Given the description of an element on the screen output the (x, y) to click on. 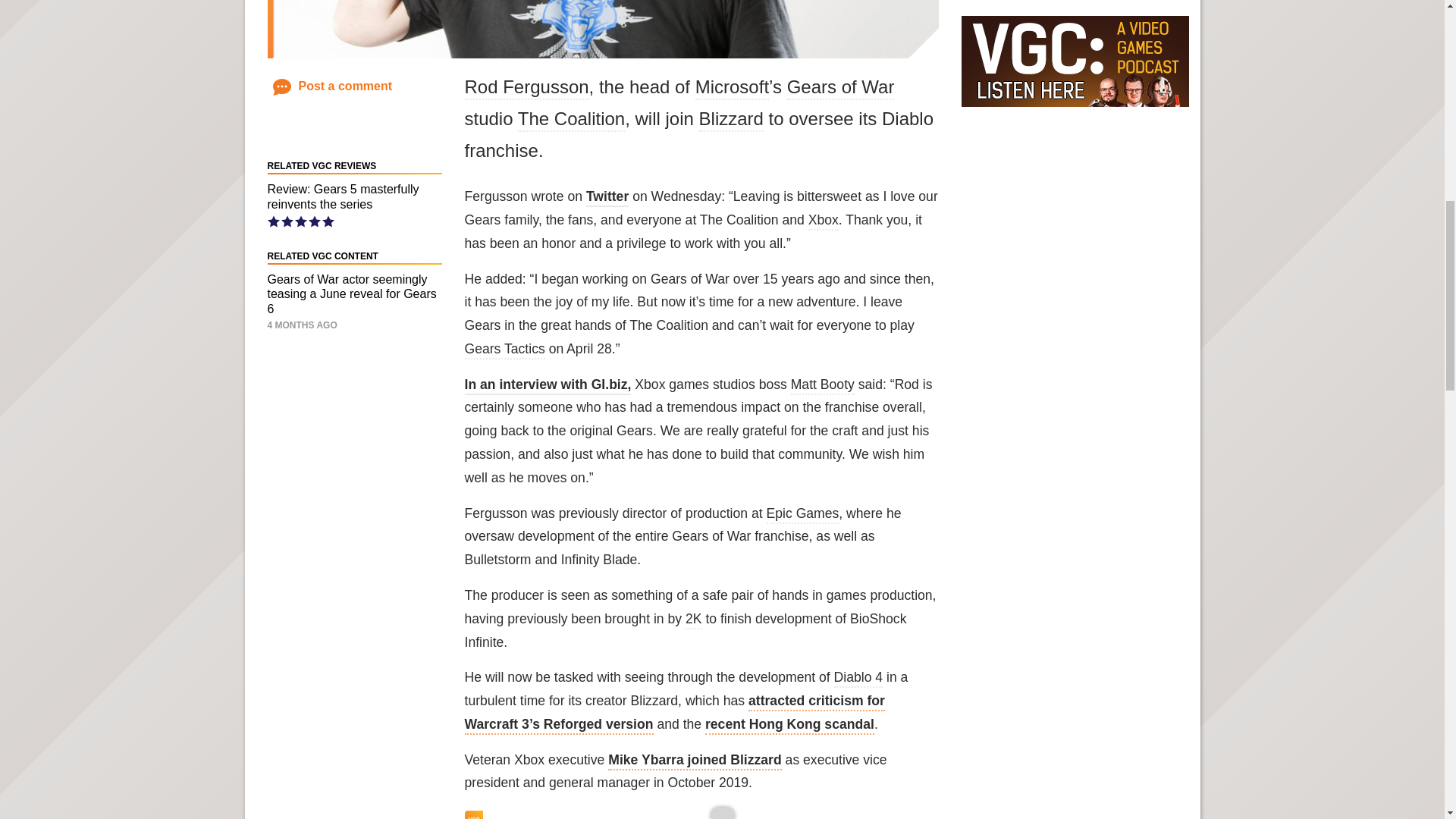
Epic Games (803, 515)
In an interview with GI.biz, (547, 385)
Gears of War (841, 87)
Twitter (607, 198)
Rod Fergusson (526, 87)
Xbox (823, 221)
Gears Tactics (504, 350)
Matt Booty (822, 385)
The Coalition (571, 119)
Microsoft (731, 87)
